Given the description of an element on the screen output the (x, y) to click on. 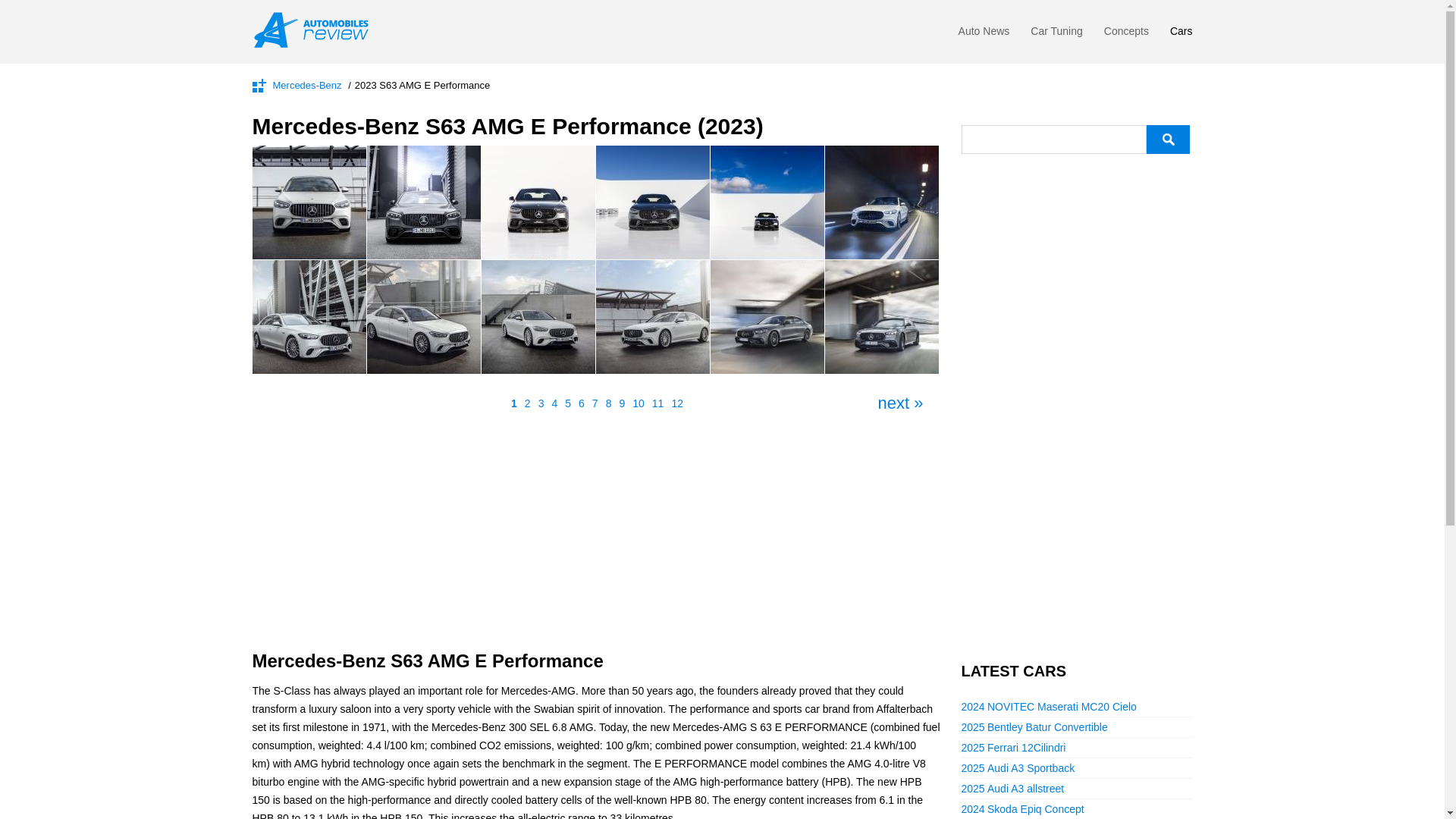
Cars (1181, 35)
Mercedes-Benz (307, 84)
Concepts (1125, 35)
Auto News (984, 35)
Auto News (984, 35)
Car Tuning (1055, 35)
Car Tuning (1055, 35)
Automobilesreview.com (315, 30)
Cars (1181, 35)
Concepts (1125, 35)
